Given the description of an element on the screen output the (x, y) to click on. 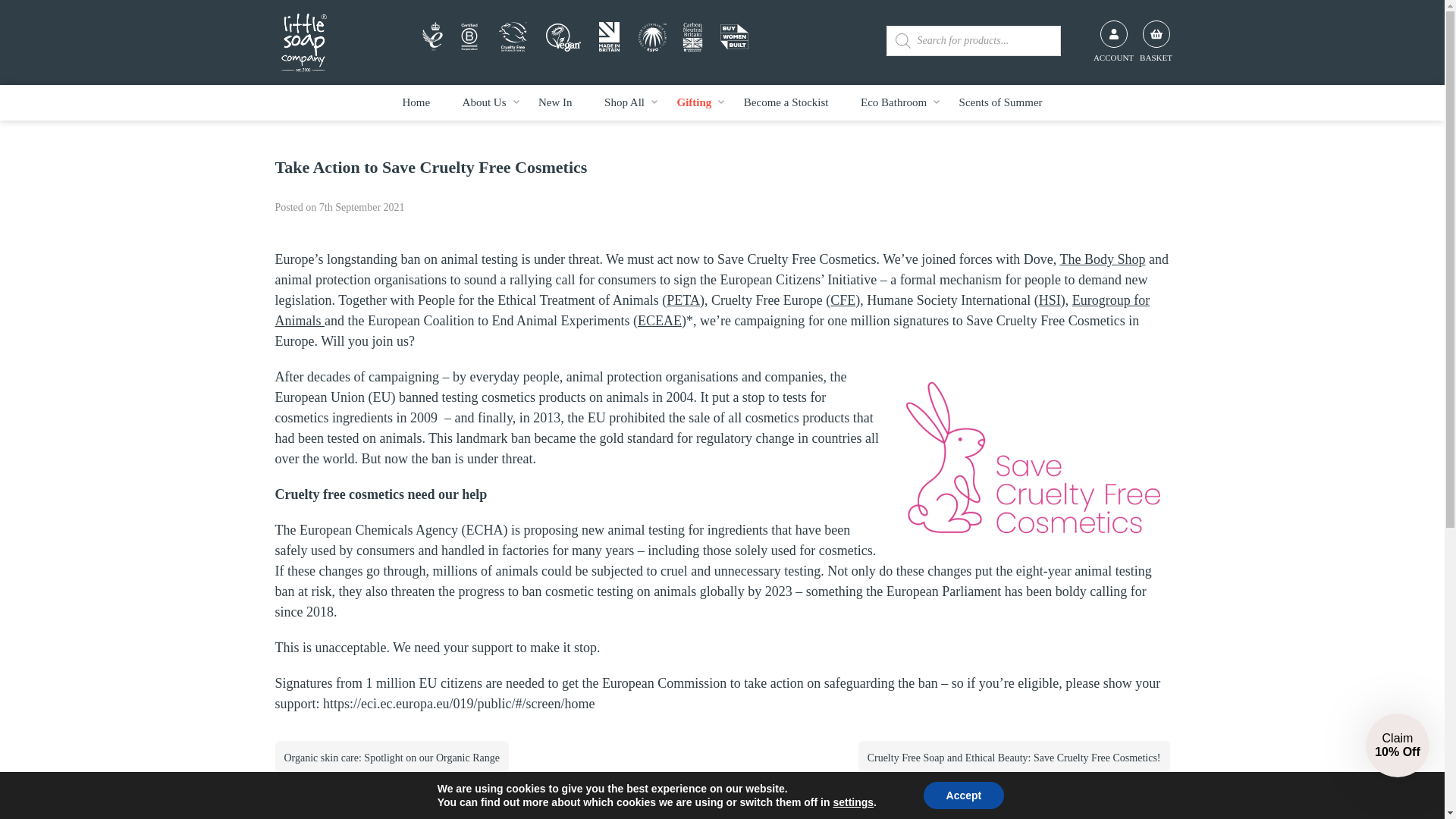
About Us (483, 102)
New In (555, 102)
ACCOUNT (1112, 33)
Home (416, 102)
Home (303, 41)
BASKET (1155, 33)
Shop All (624, 102)
